Given the description of an element on the screen output the (x, y) to click on. 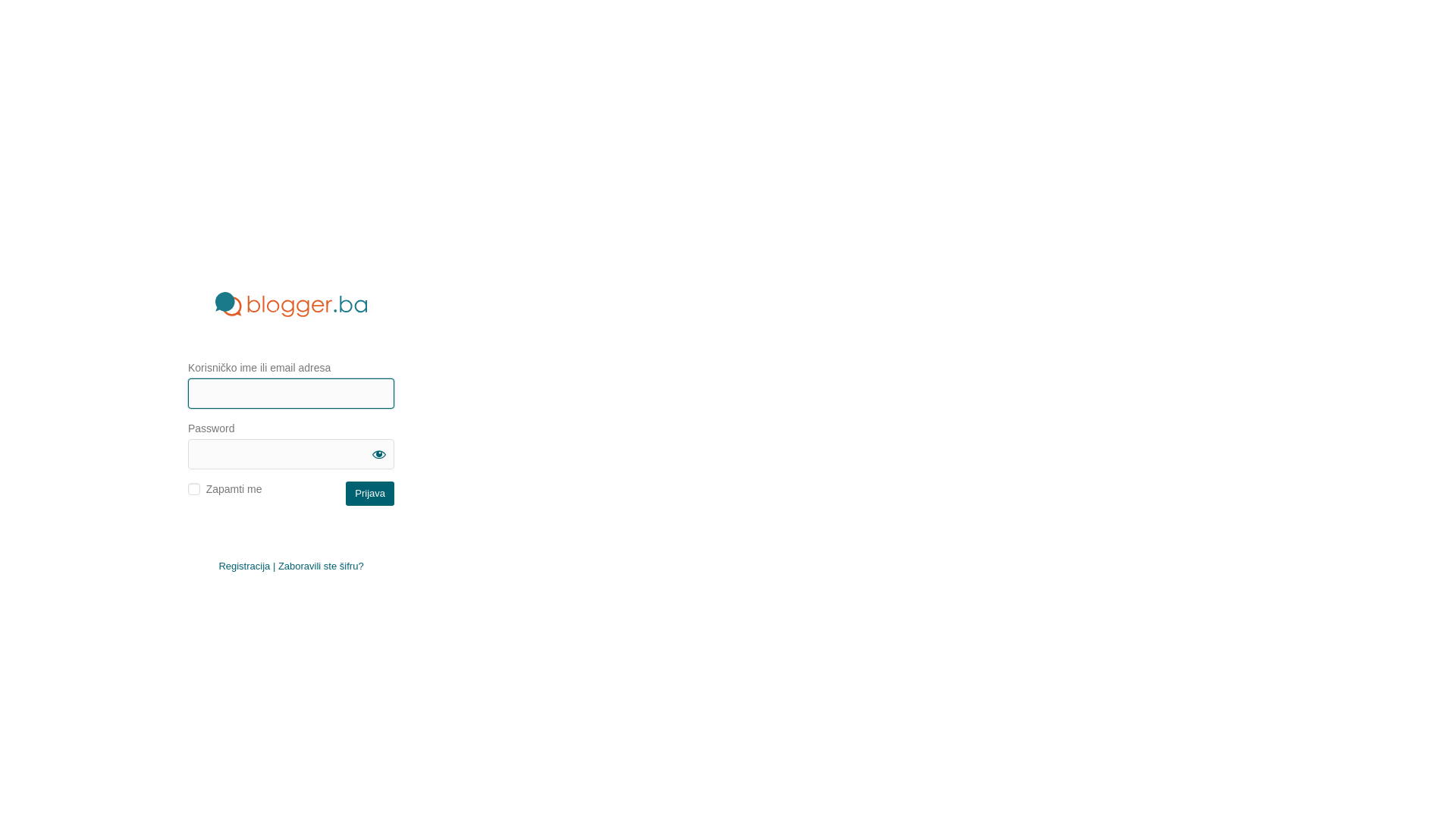
Registracija Element type: text (243, 565)
Prijava Element type: text (369, 493)
